Given the description of an element on the screen output the (x, y) to click on. 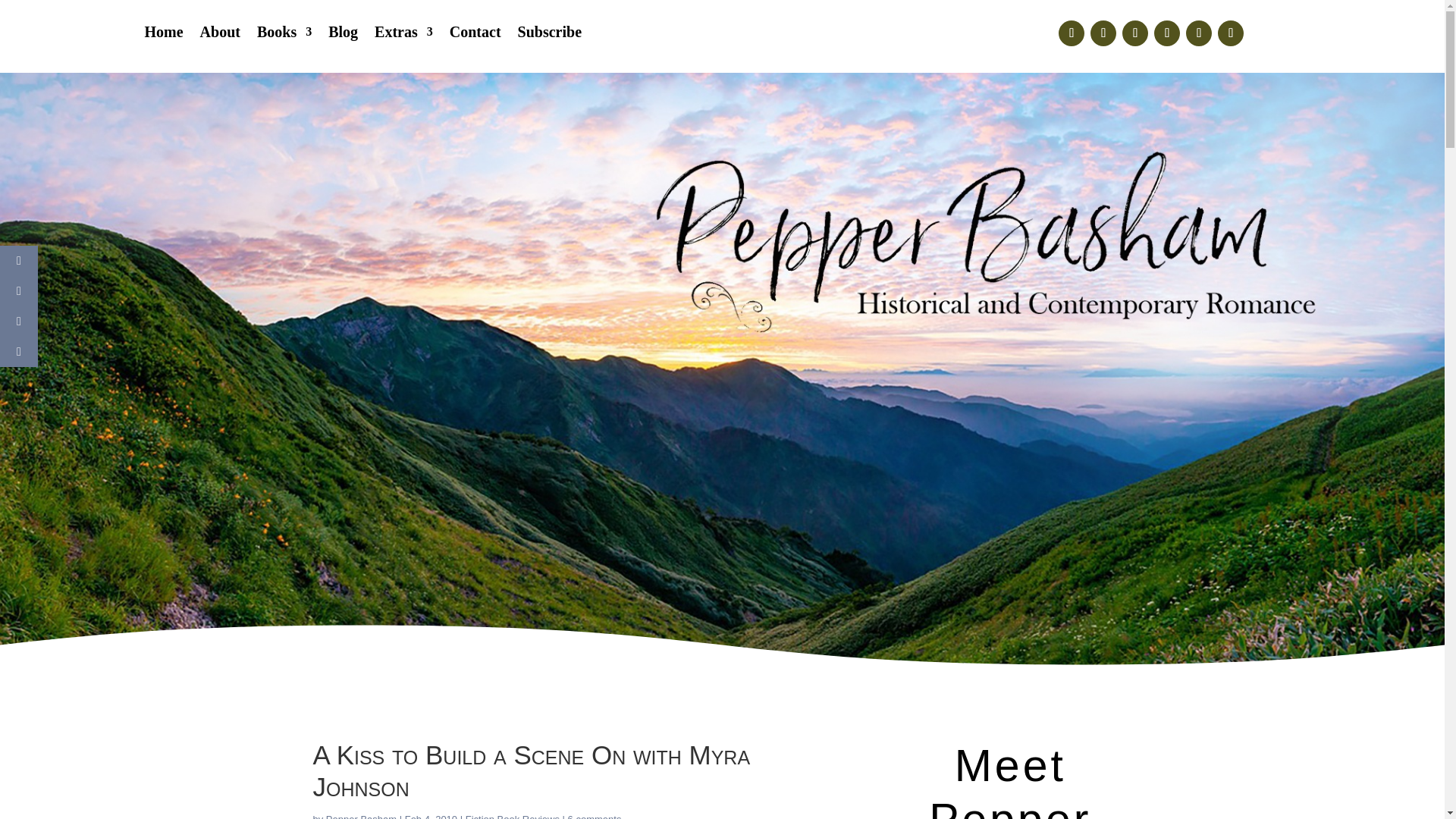
Extras (403, 34)
Home (163, 34)
Follow on X (1103, 32)
Posts by Pepper Basham (361, 816)
Follow on Pinterest (1166, 32)
Contact (474, 34)
6 comments (594, 816)
Books (284, 34)
Follow on Youtube (1198, 32)
Follow on Instagram (1135, 32)
